Given the description of an element on the screen output the (x, y) to click on. 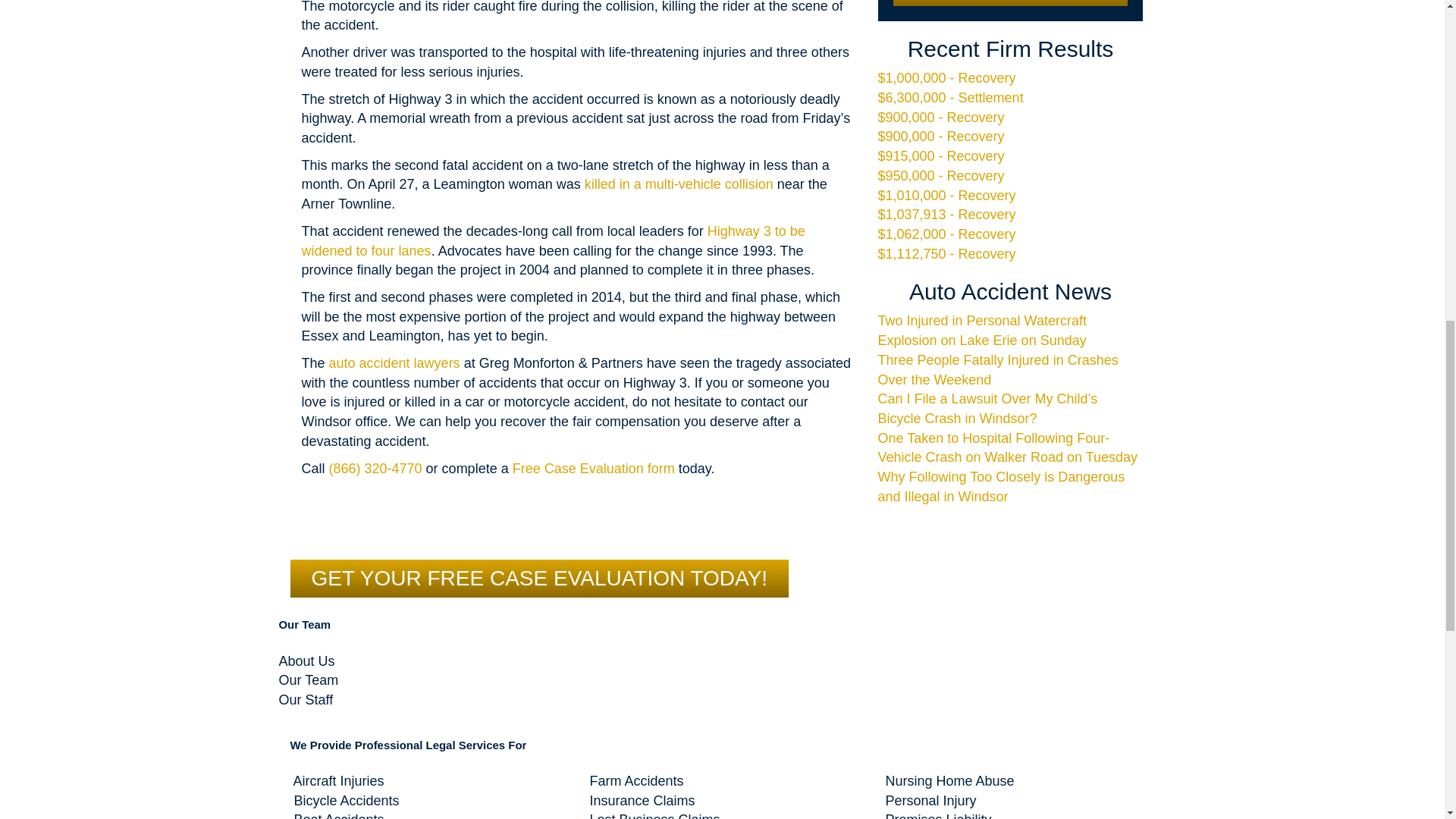
fatal accident (679, 183)
widen Highway 3 (553, 240)
Get Help Now (1010, 2)
auto accident lawyers (394, 363)
